Given the description of an element on the screen output the (x, y) to click on. 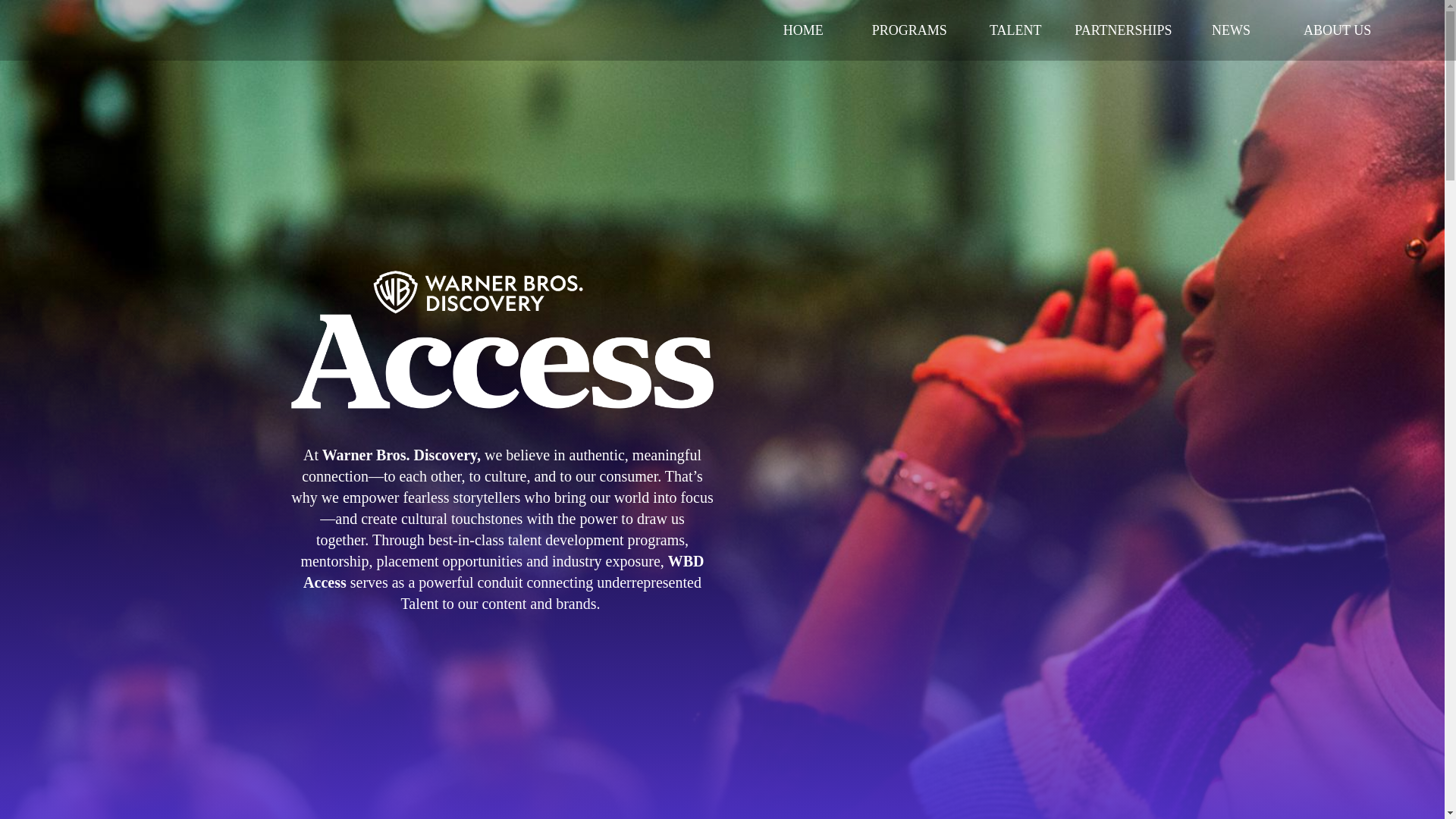
ABOUT US (1337, 30)
NEWS (1230, 30)
PARTNERSHIPS (1122, 30)
Welcome to Warner Media Access (502, 333)
PROGRAMS (909, 30)
HOME (802, 30)
TALENT (1015, 30)
